Given the description of an element on the screen output the (x, y) to click on. 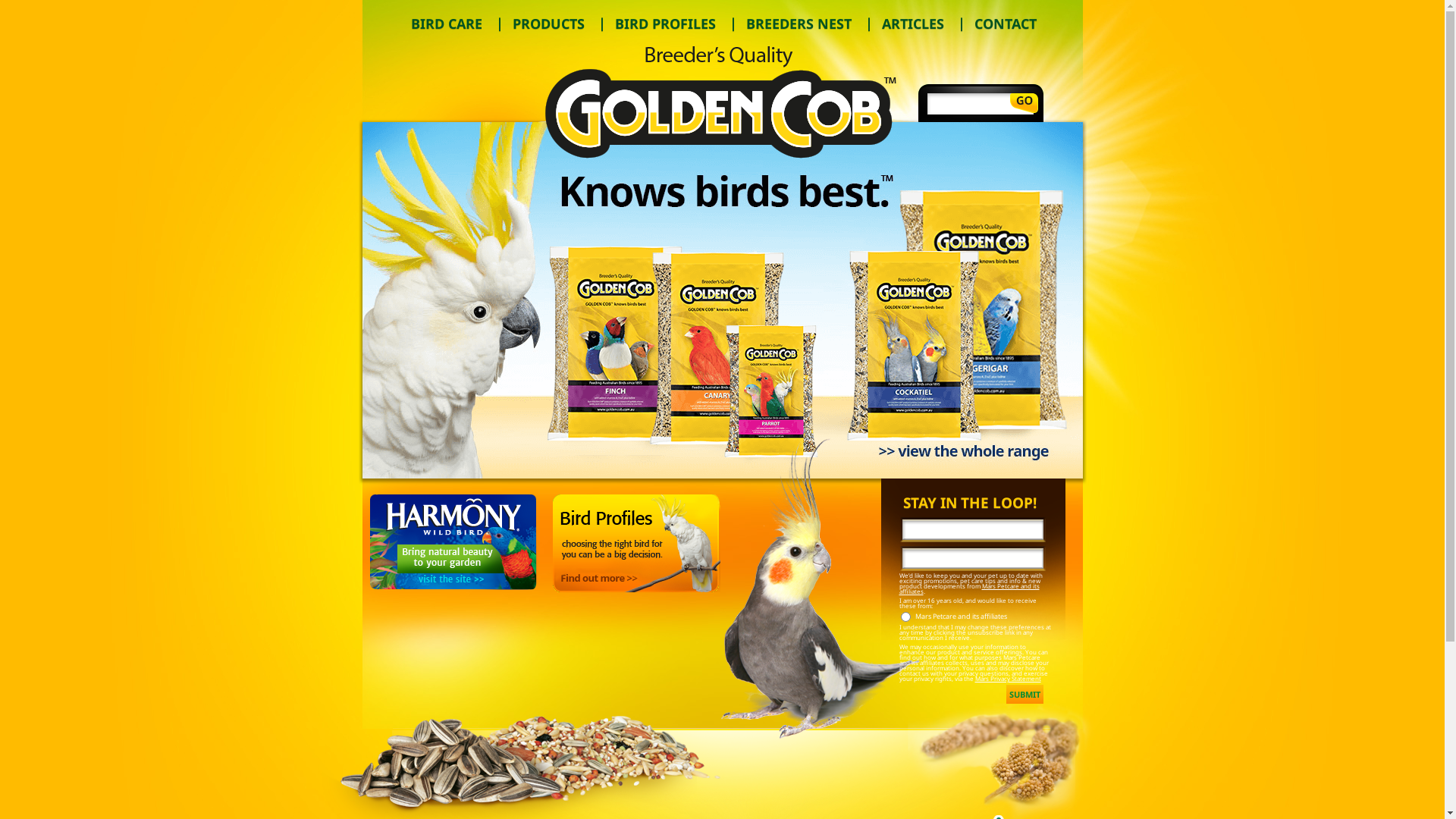
Mars Privacy Statement Element type: text (1008, 678)
Trill Element type: text (721, 102)
Submit Element type: text (1023, 693)
Your Name Element type: hover (972, 528)
CONTACT Element type: text (1003, 23)
BREEDERS NEST Element type: text (797, 23)
Your Email Element type: hover (972, 557)
BIRD CARE Element type: text (444, 23)
PRODUCTS Element type: text (546, 23)
BIRD PROFILES Element type: text (663, 23)
Search Element type: hover (980, 103)
ARTICLES Element type: text (911, 23)
Mars Petcare and its affiliates Element type: text (969, 588)
Go Element type: text (1024, 102)
